Given the description of an element on the screen output the (x, y) to click on. 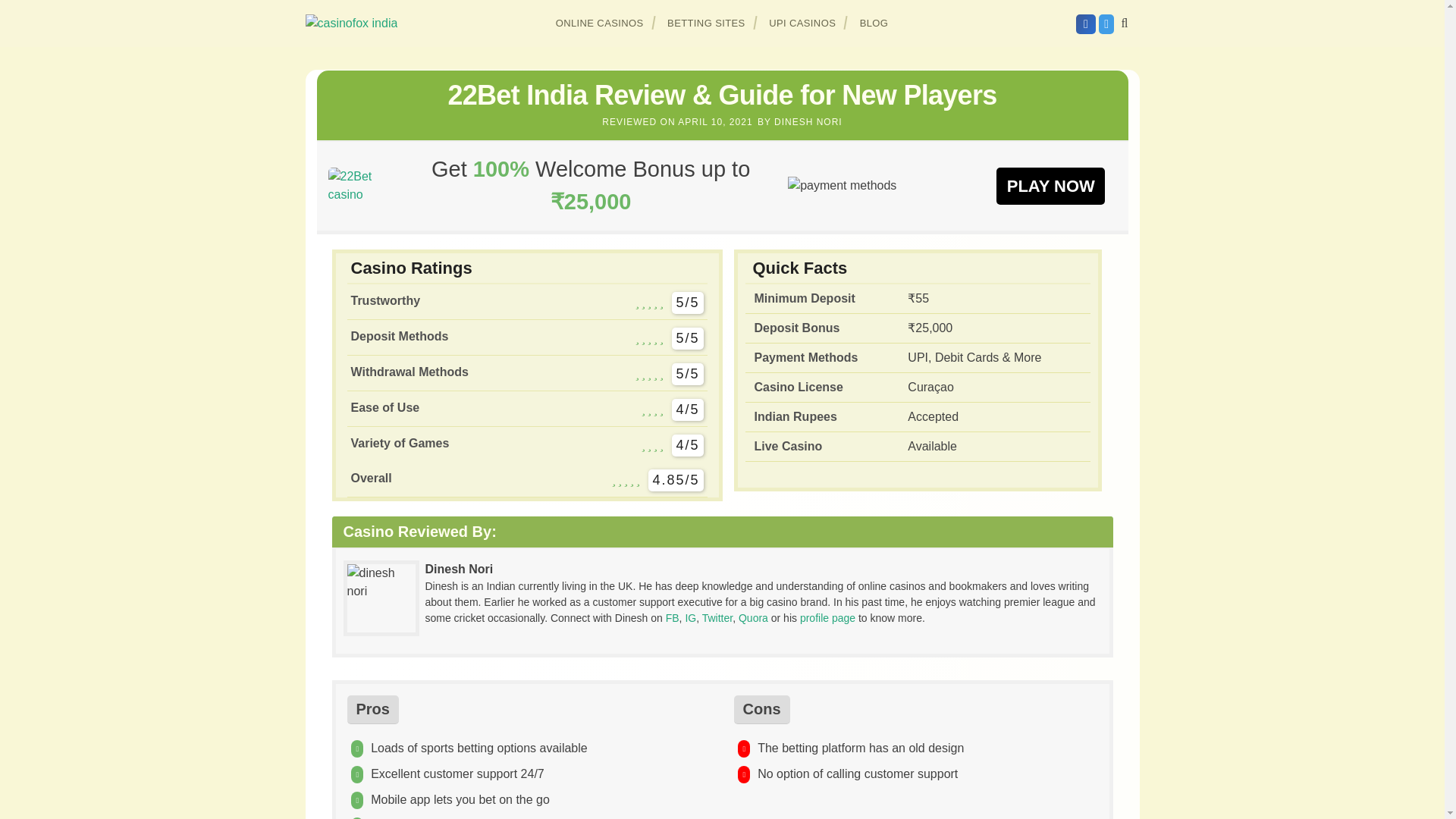
profile page (827, 617)
22Bet (1050, 185)
PLAY NOW (1050, 185)
BLOG (874, 23)
UPI CASINOS (801, 23)
Twitter (716, 617)
IG (689, 617)
22Bet (360, 185)
Quora (753, 617)
BETTING SITES (706, 23)
